Given the description of an element on the screen output the (x, y) to click on. 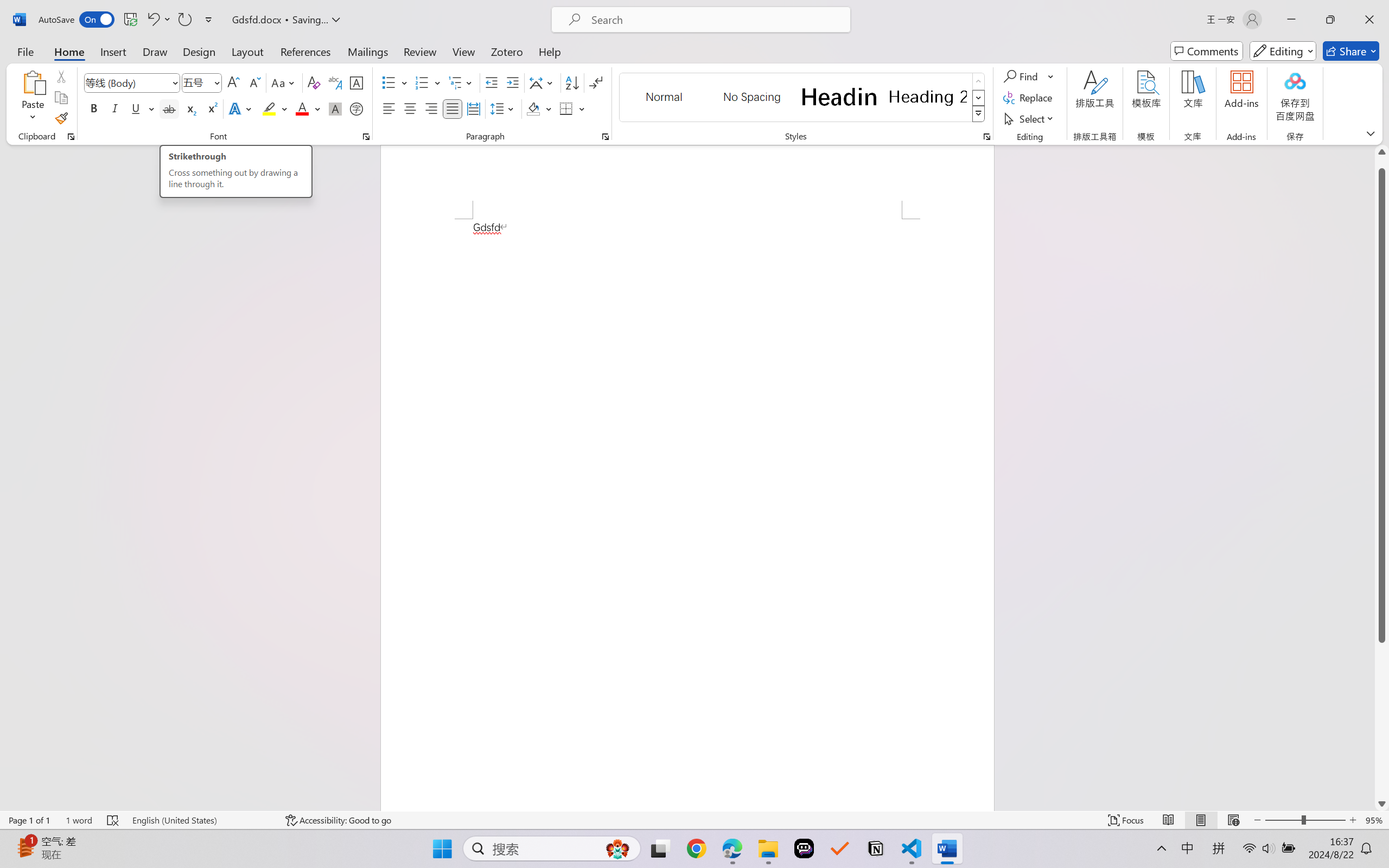
Font Color (308, 108)
Center (409, 108)
Align Left (388, 108)
Shrink Font (253, 82)
Line down (1382, 803)
Row Down (978, 97)
Page down (1382, 719)
